Given the description of an element on the screen output the (x, y) to click on. 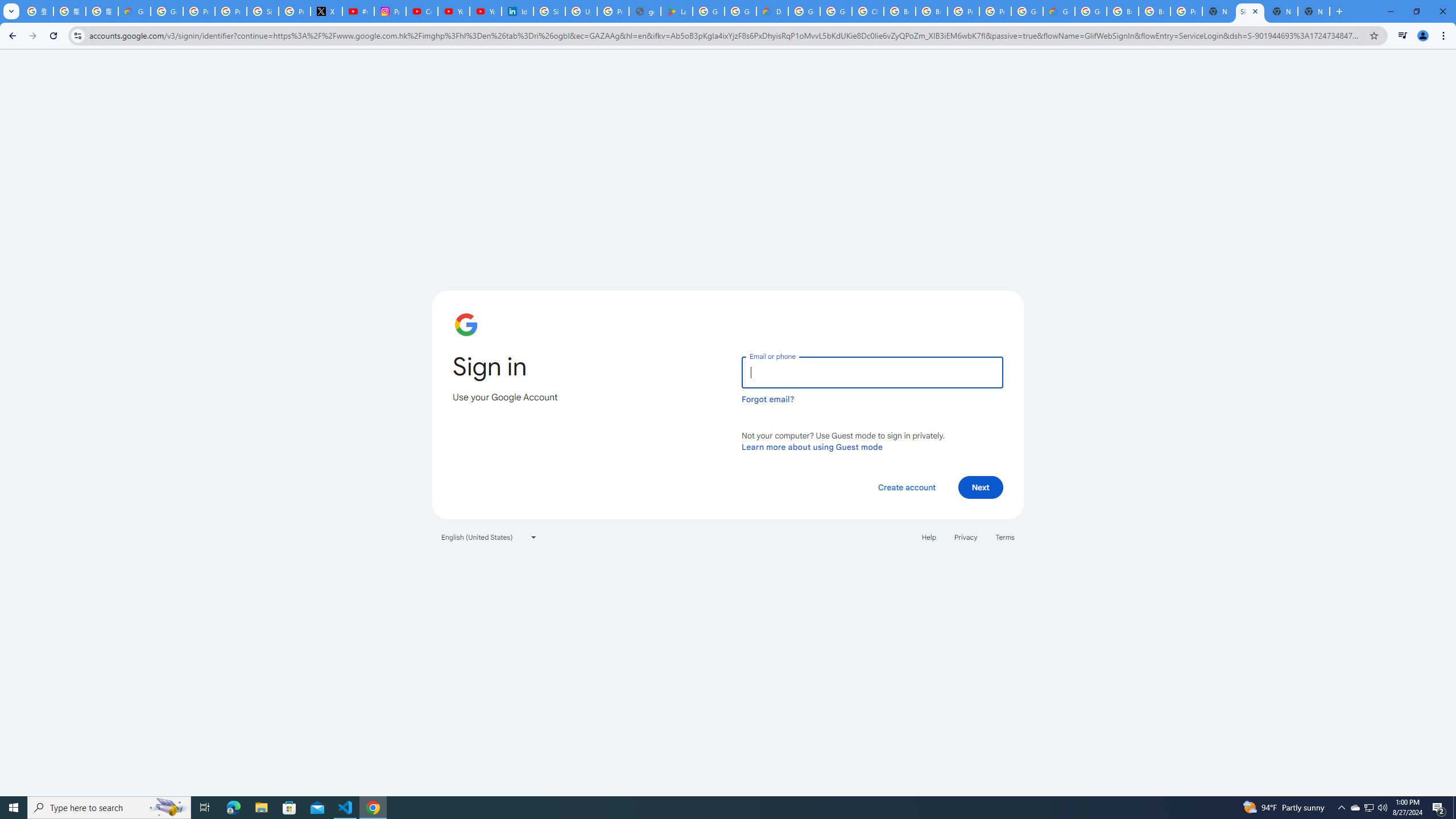
#nbabasketballhighlights - YouTube (358, 11)
Google Cloud Privacy Notice (134, 11)
Google Cloud Estimate Summary (1059, 11)
Sign in - Google Accounts (1249, 11)
Create account (905, 486)
Browse Chrome as a guest - Computer - Google Chrome Help (899, 11)
google_privacy_policy_en.pdf (644, 11)
Sign in - Google Accounts (549, 11)
